Given the description of an element on the screen output the (x, y) to click on. 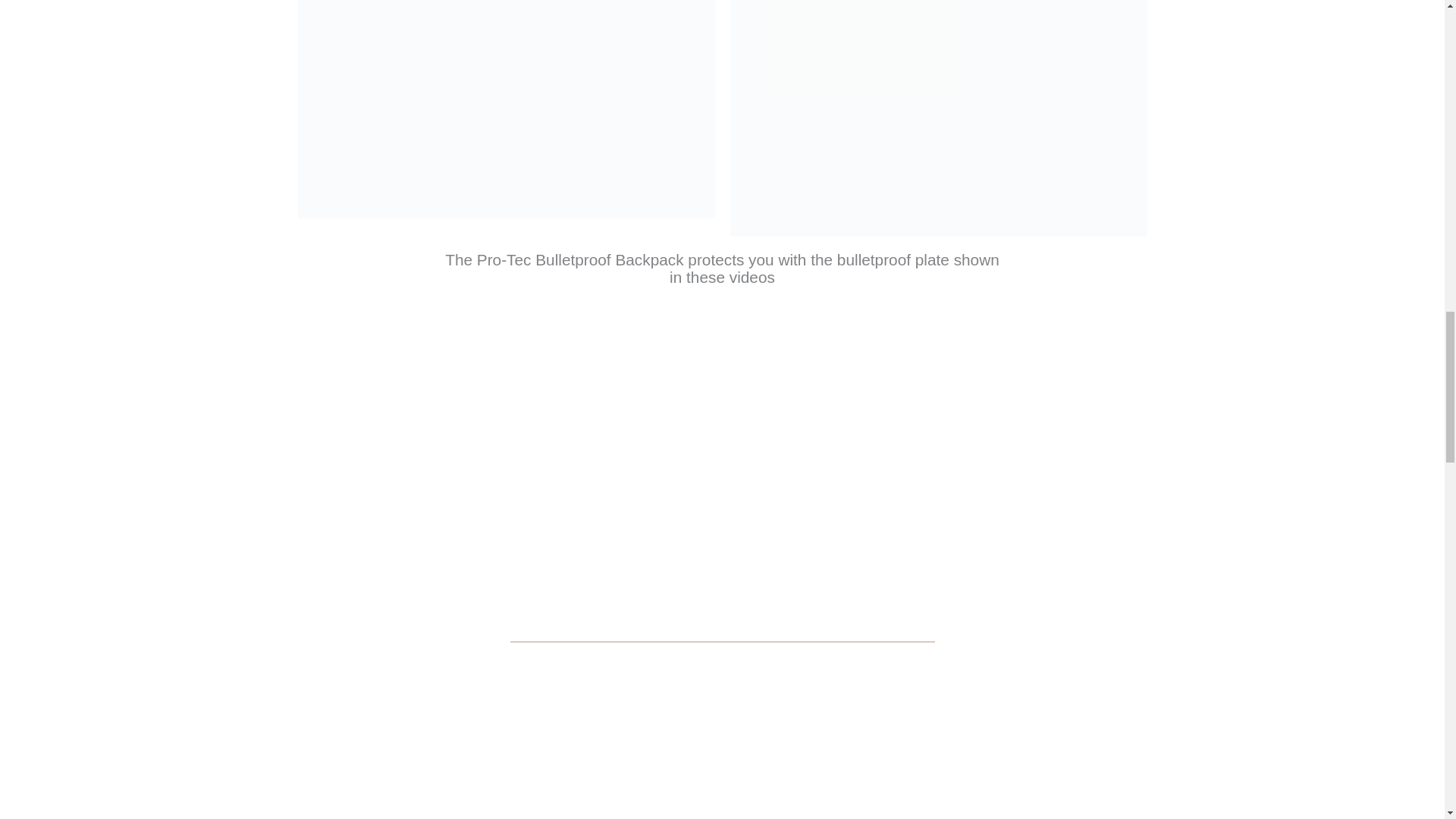
Streetwise Pro-Tec Bulletproof Backpack SWPTBP 03 (938, 118)
Streetwise Pro-Tec Bulletproof Backpack SWPTBP 02 (505, 109)
